Given the description of an element on the screen output the (x, y) to click on. 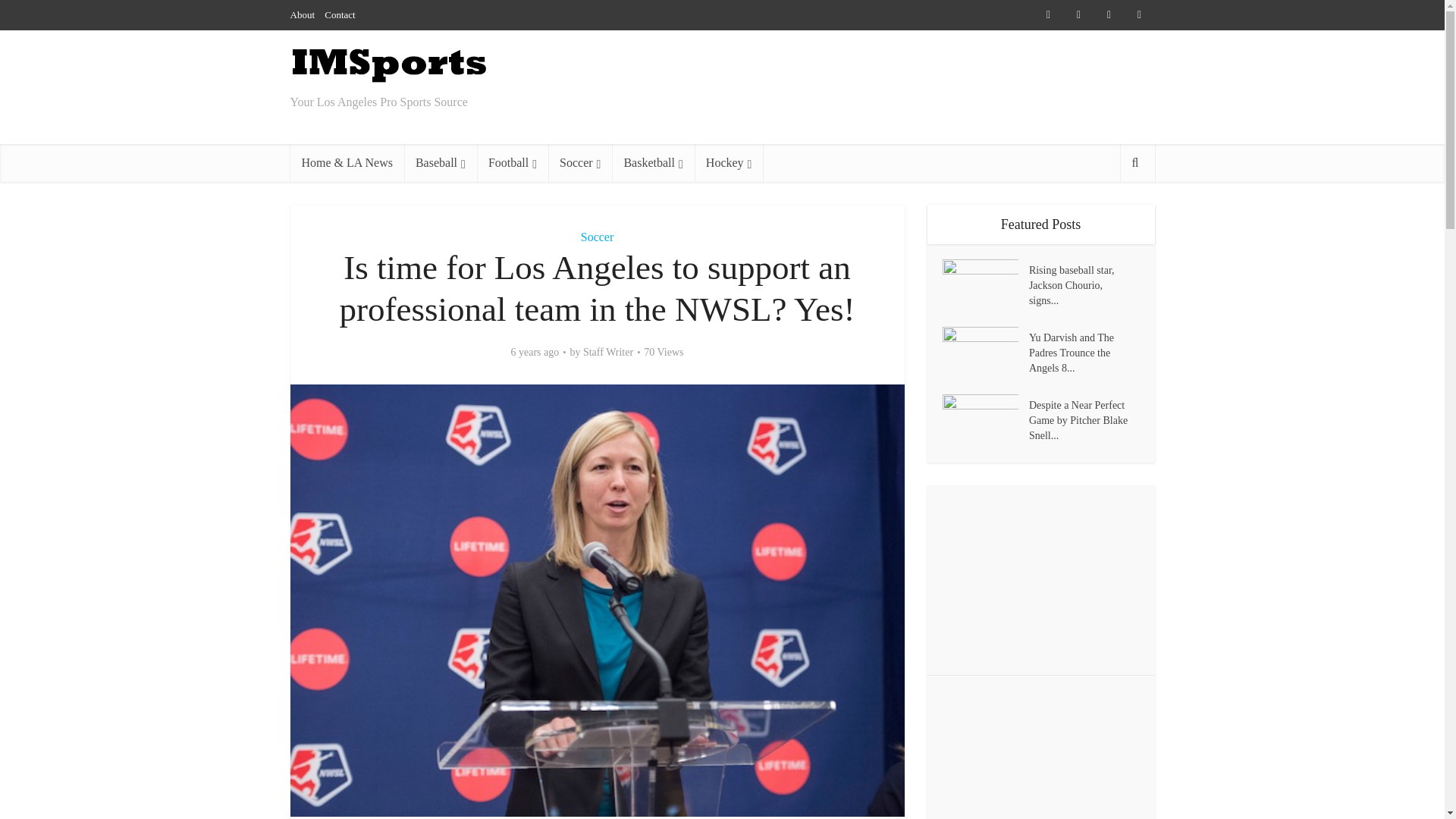
Hockey (728, 162)
Staff Writer (608, 352)
IMSports (387, 65)
Football (512, 162)
About (301, 14)
Soccer (597, 236)
Soccer (579, 162)
Baseball (440, 162)
Contact (339, 14)
Basketball (652, 162)
